Given the description of an element on the screen output the (x, y) to click on. 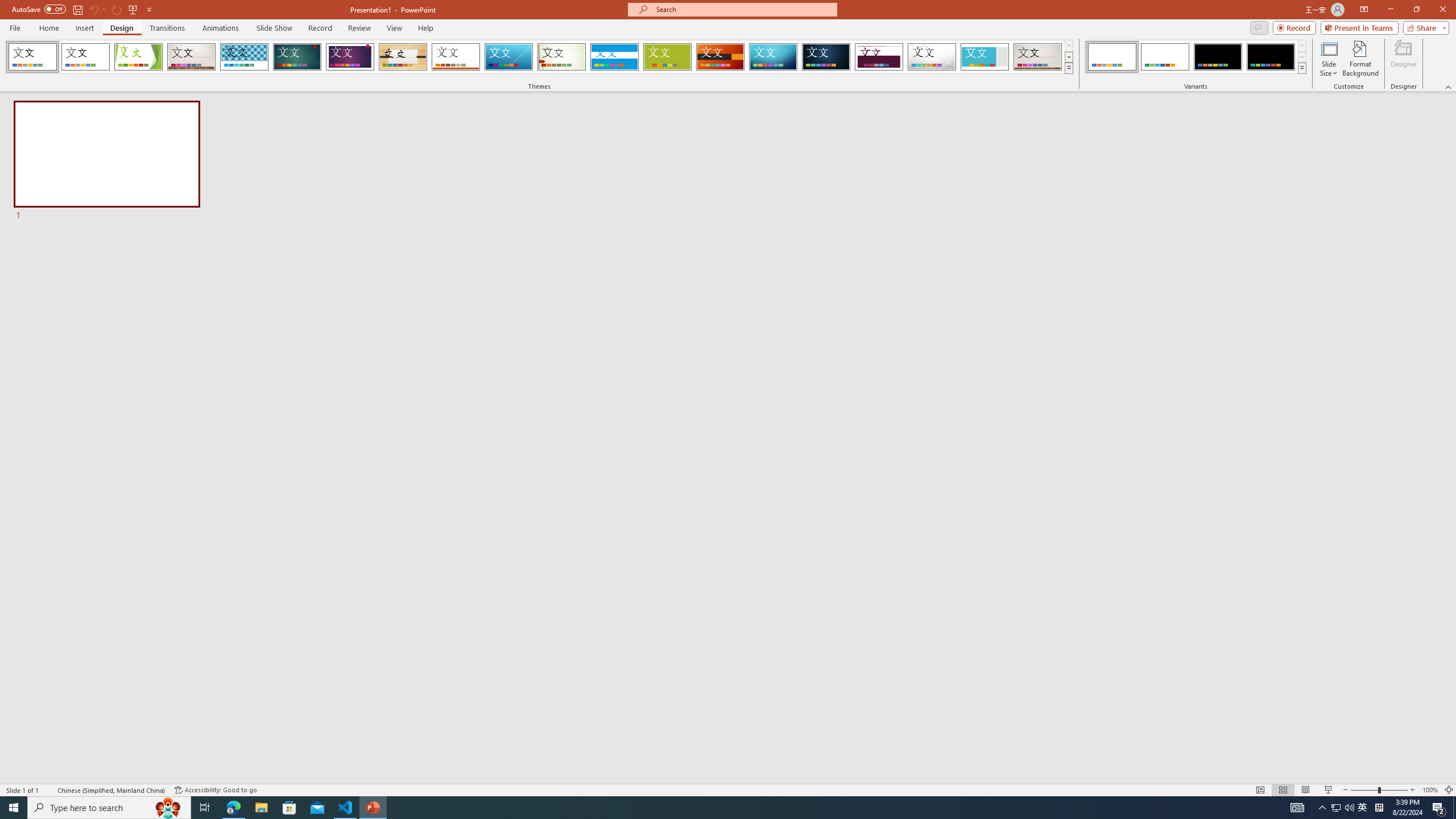
Office Theme Variant 2 (1164, 56)
Class: MsoCommandBar (728, 789)
Row Down (1301, 56)
Retrospect Loading Preview... (455, 56)
Accessibility Checker Accessibility: Good to go (216, 790)
